Given the description of an element on the screen output the (x, y) to click on. 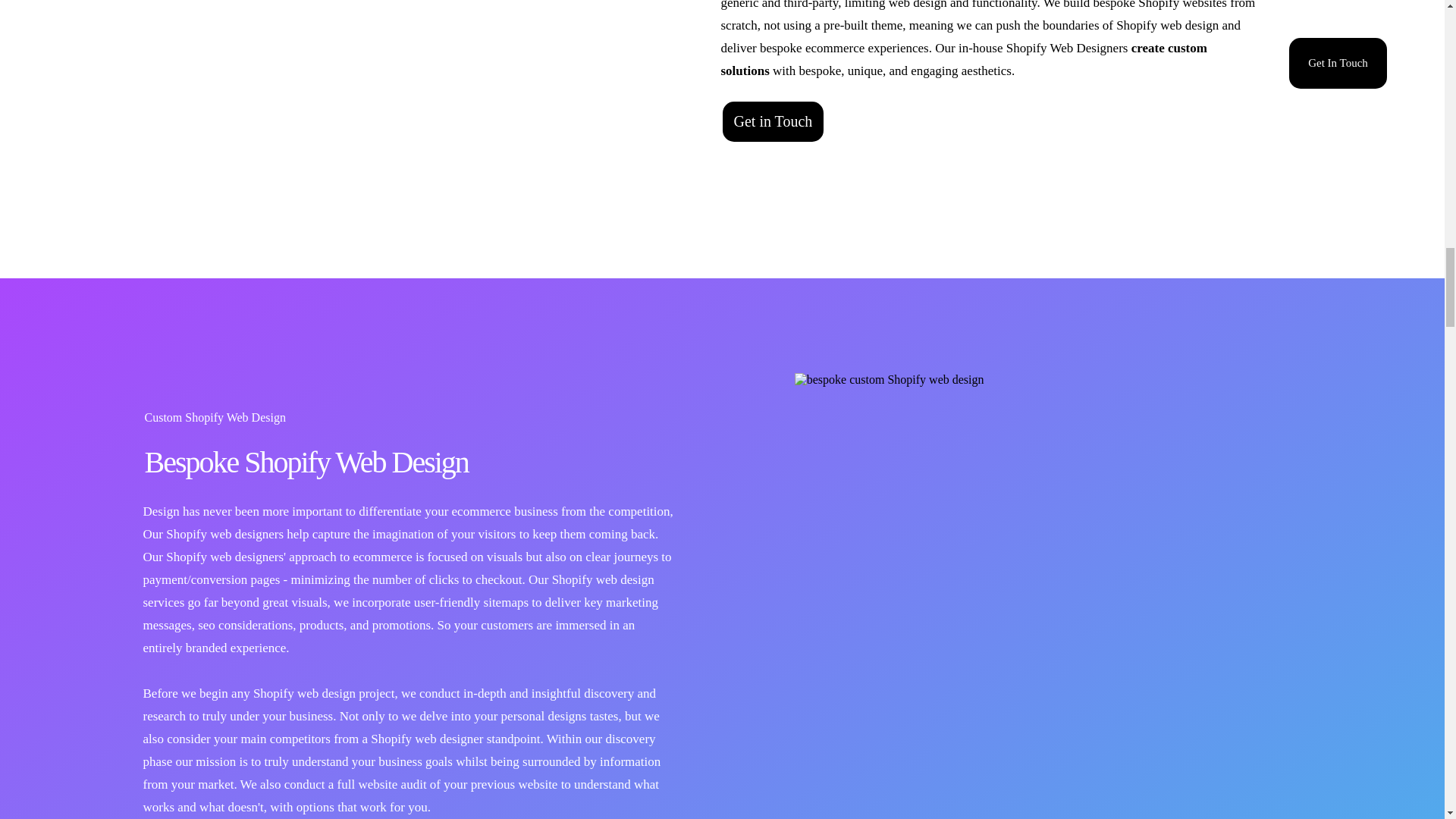
create custom solutions (963, 58)
Get in Touch (773, 121)
